Given the description of an element on the screen output the (x, y) to click on. 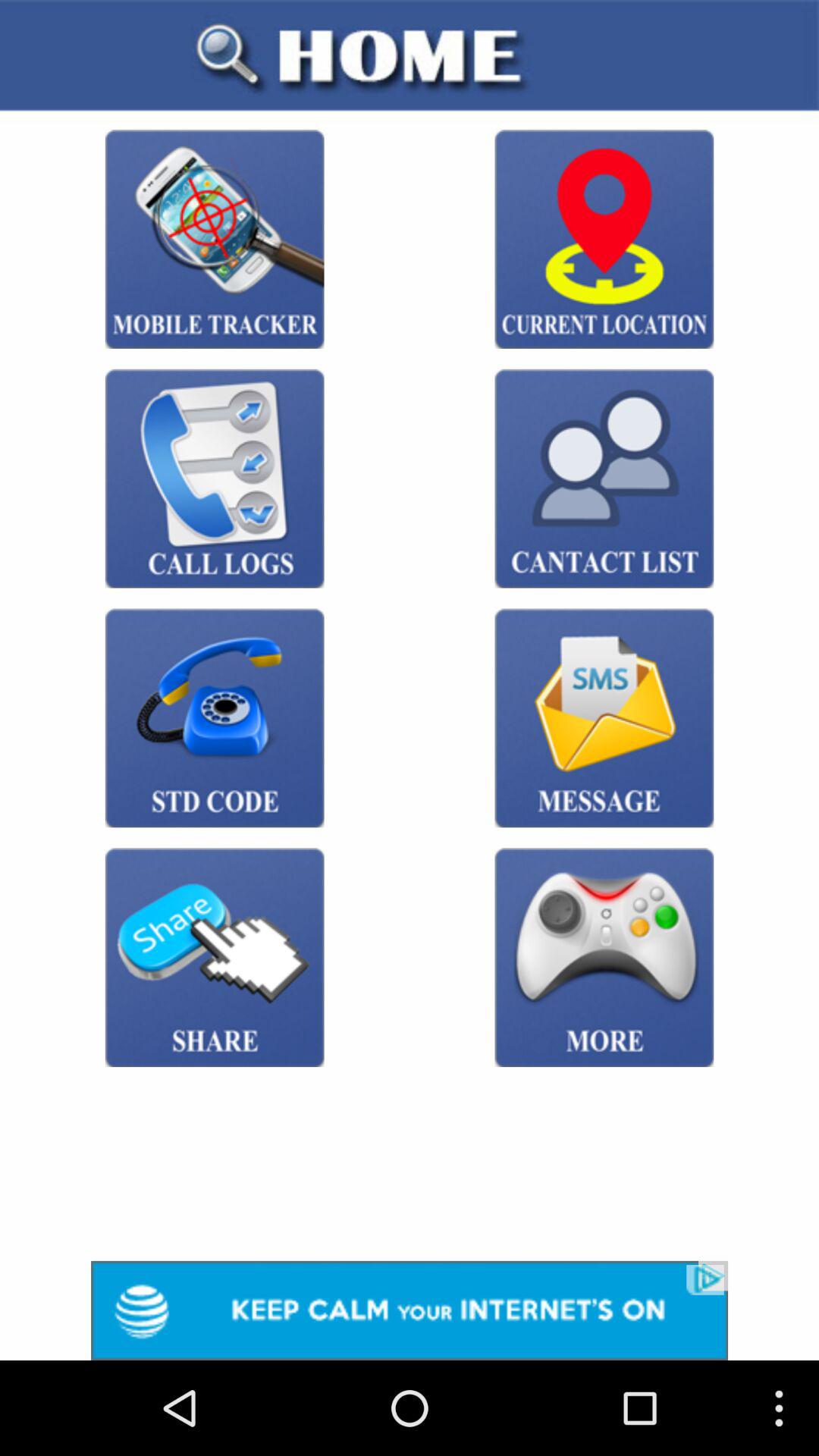
add option (409, 1310)
